Given the description of an element on the screen output the (x, y) to click on. 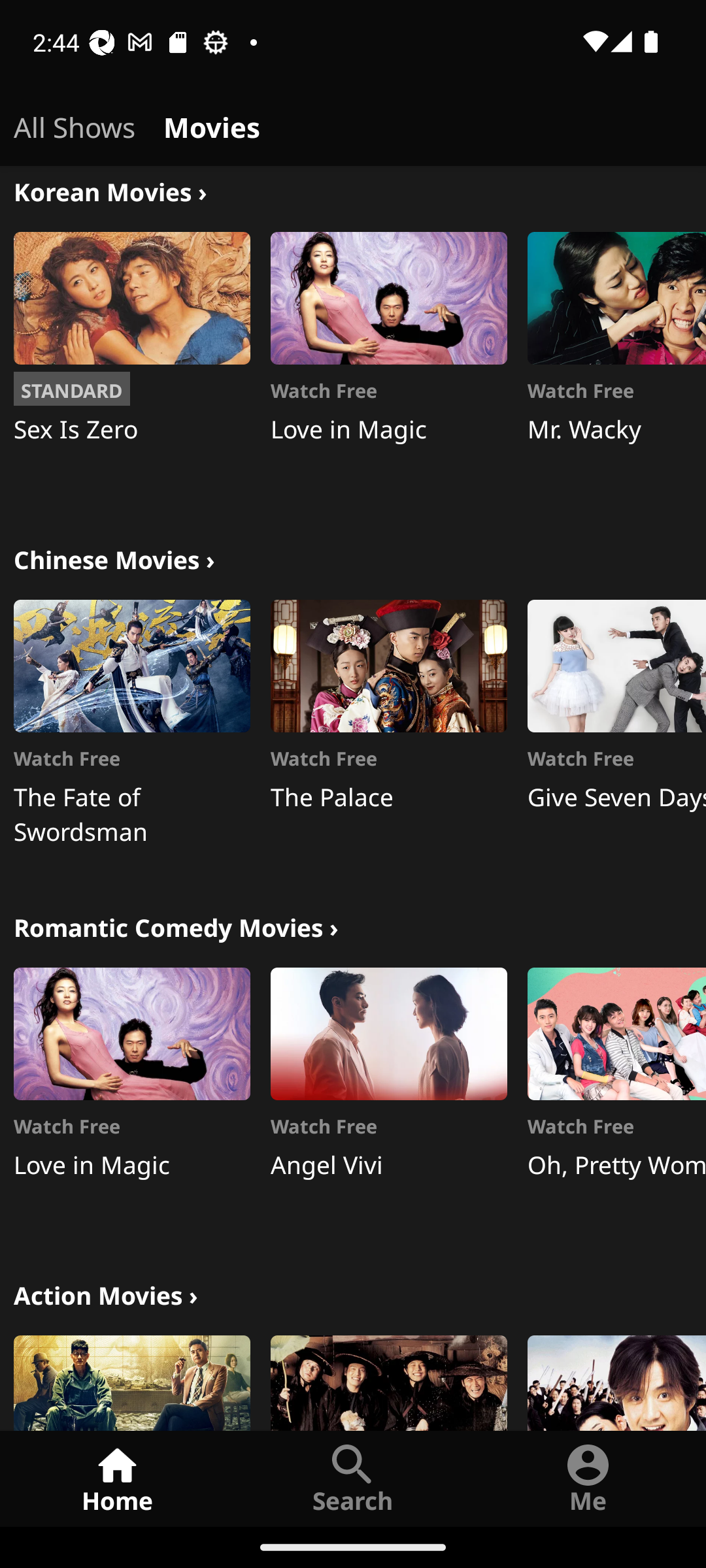
home_tab_all_shows All Shows (74, 124)
Korean Movies › korean_movies_trending (110, 190)
Chinese Movies › chinese_movies_trending (114, 557)
Action Movies › trending_action_movies (105, 1292)
resource_cell home_resource_37657c (131, 1382)
resource_cell home_resource_36858c (388, 1382)
resource_cell home_resource_6243c (616, 1382)
Search (352, 1478)
Me (588, 1478)
